Given the description of an element on the screen output the (x, y) to click on. 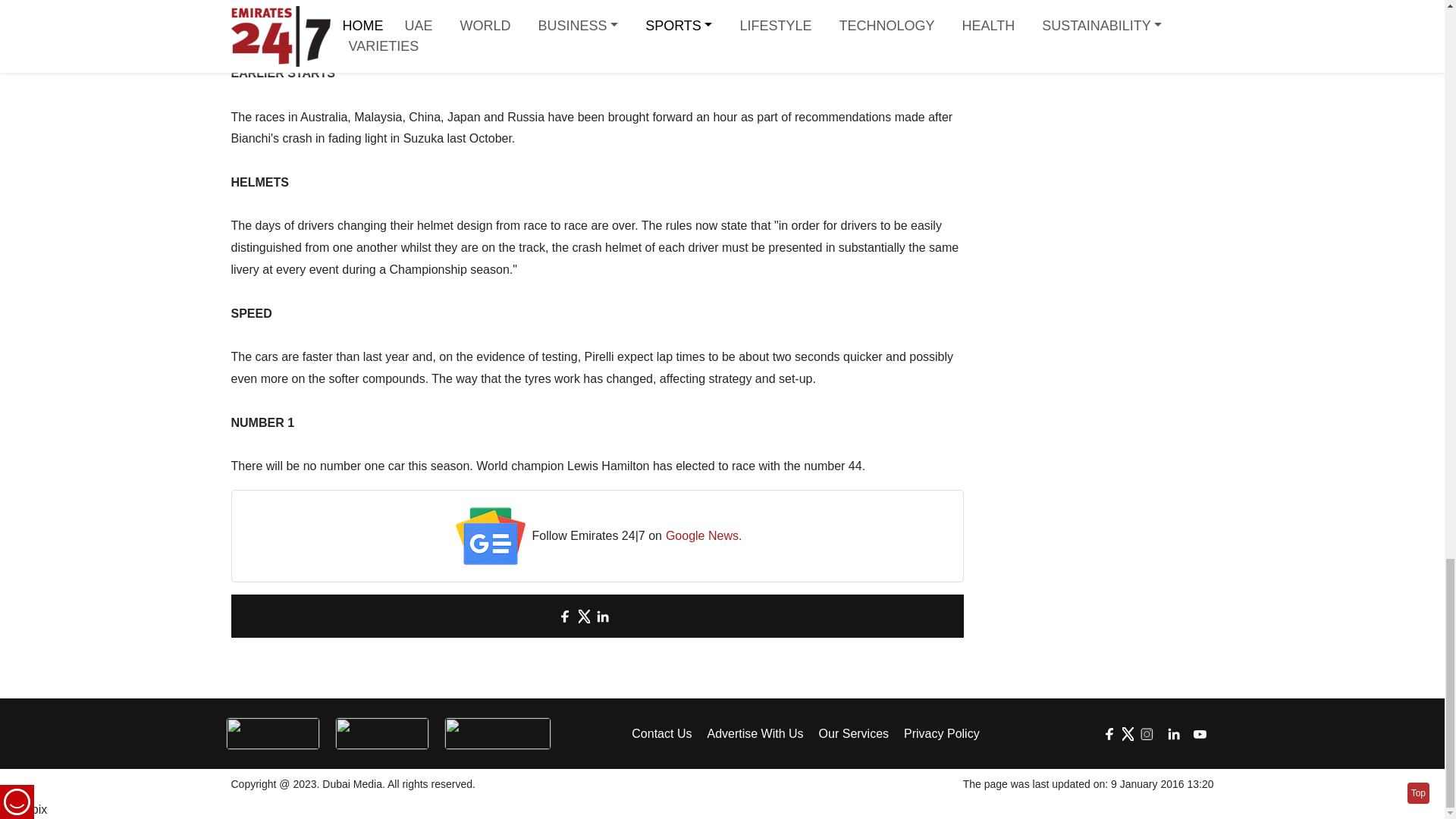
Google News. (703, 536)
